Given the description of an element on the screen output the (x, y) to click on. 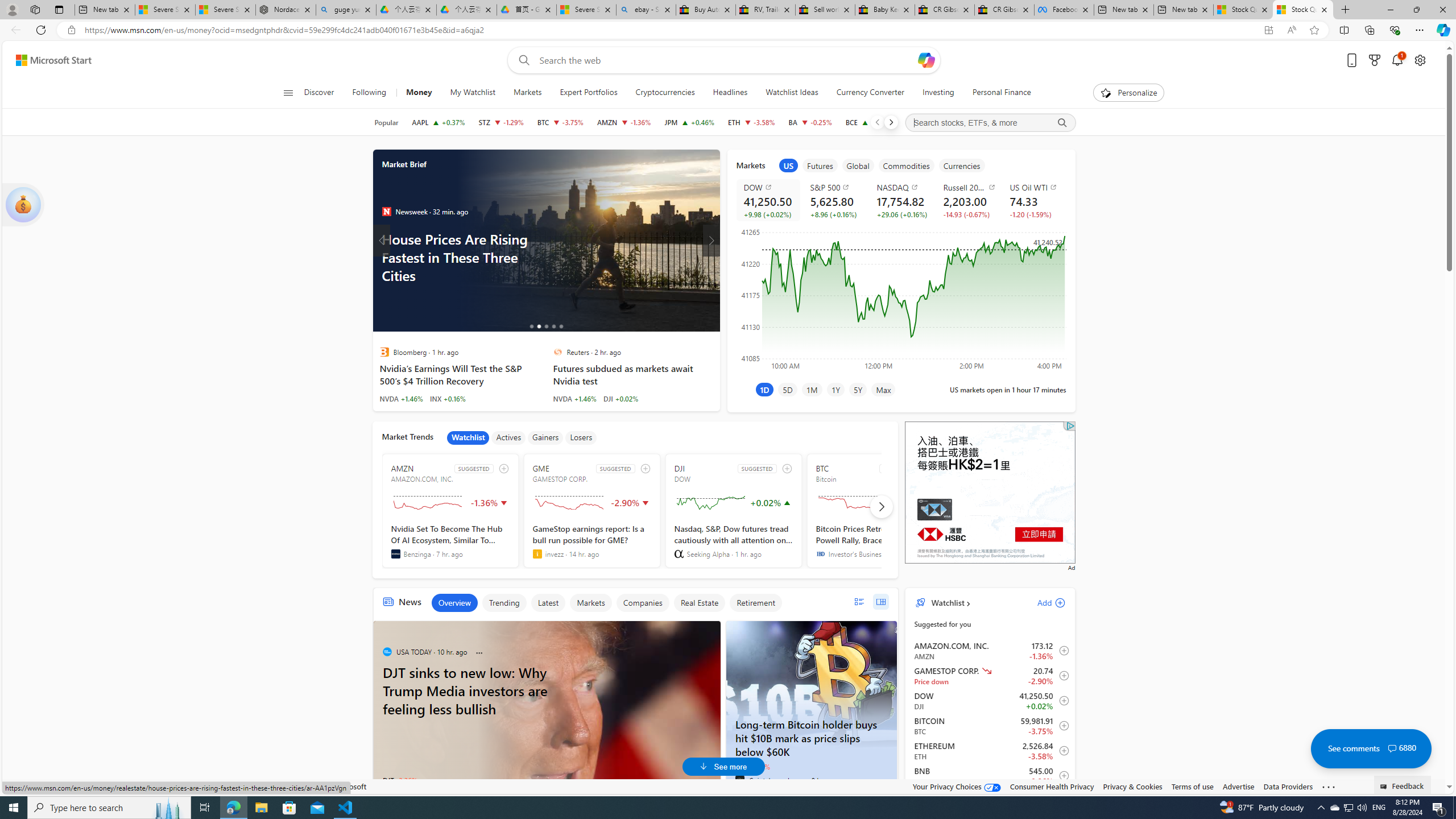
Gainers (545, 437)
Class: qc-adchoices-link top-right  (1068, 425)
Benzinga (395, 553)
Newsweek (386, 211)
1Y (835, 389)
Baby Keepsakes & Announcements for sale | eBay (885, 9)
show card (22, 204)
AMZN SUGGESTED AMAZON.COM, INC. (449, 510)
Class: cwt-icon-vector (1391, 748)
US Oil WTI USOIL decrease 74.33 -1.20 -1.59% (1033, 200)
Seeking Alpha (679, 553)
Currency Converter (869, 92)
